Given the description of an element on the screen output the (x, y) to click on. 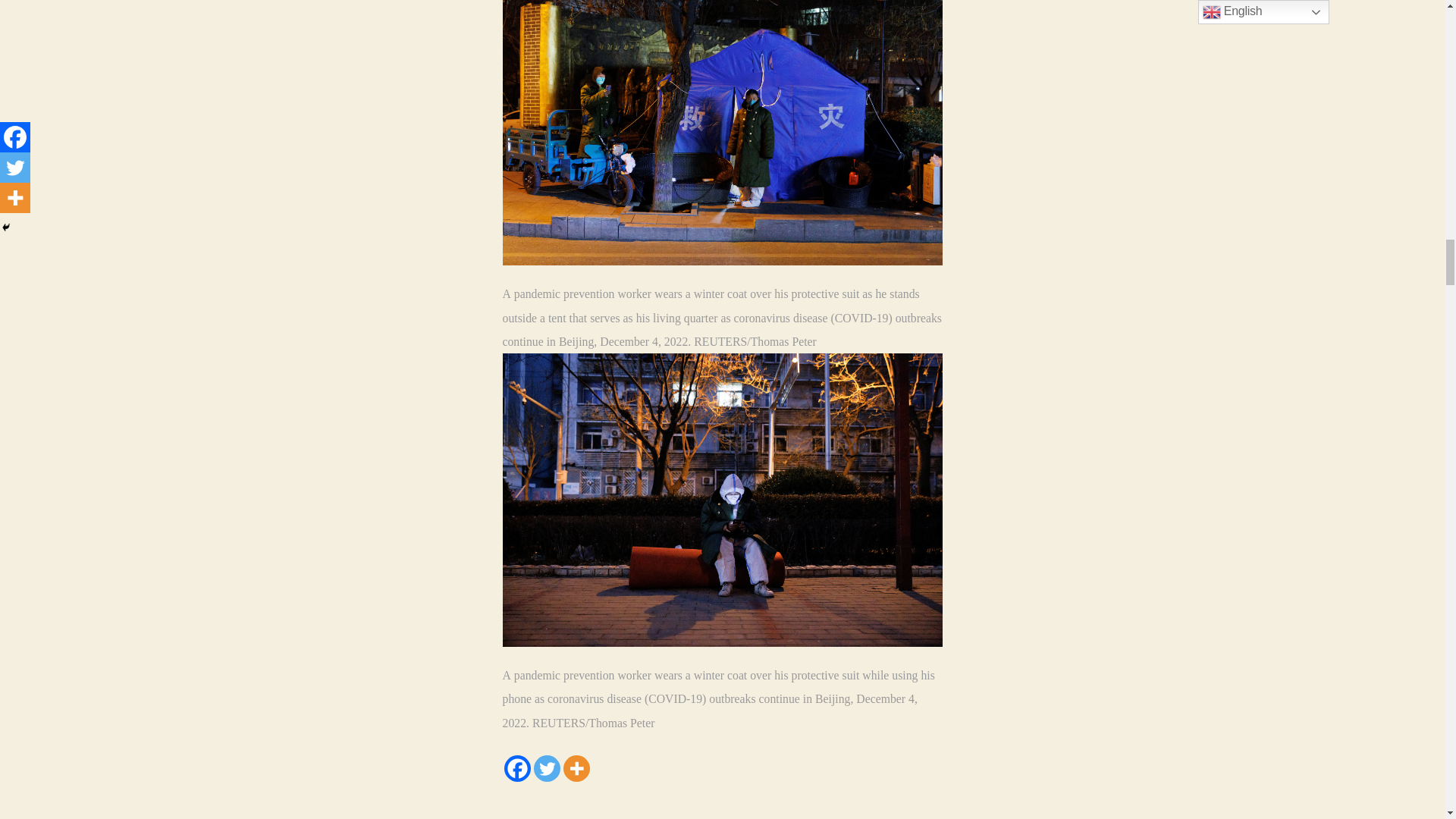
Twitter (547, 768)
Facebook (516, 768)
More (575, 768)
